Given the description of an element on the screen output the (x, y) to click on. 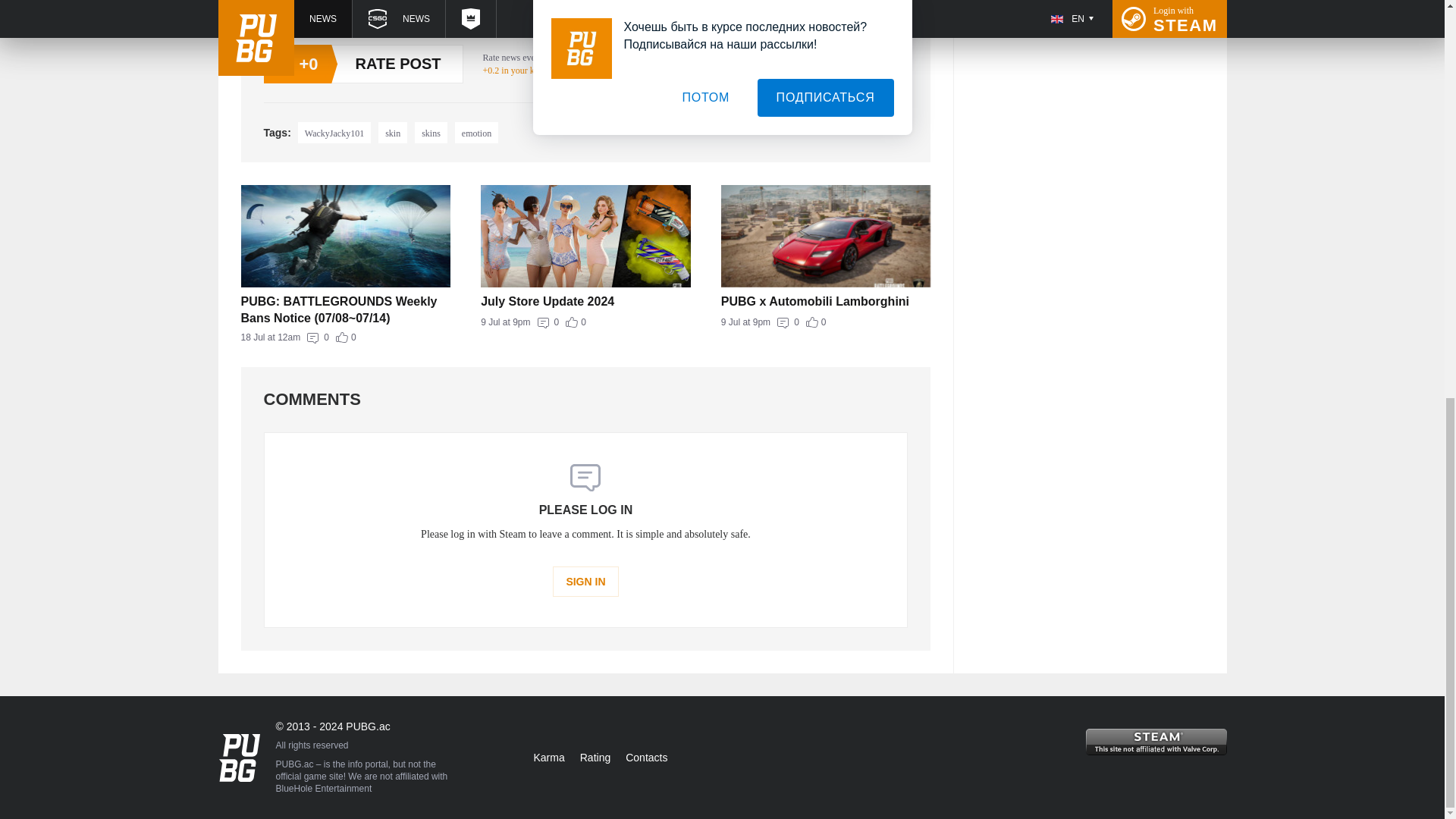
WackyJacky101 (825, 322)
July Store Update 2024 (585, 322)
skins (334, 132)
PUBG x Automobili Lamborghini (585, 301)
skin (430, 132)
emotion (825, 301)
SIGN IN (392, 132)
